Given the description of an element on the screen output the (x, y) to click on. 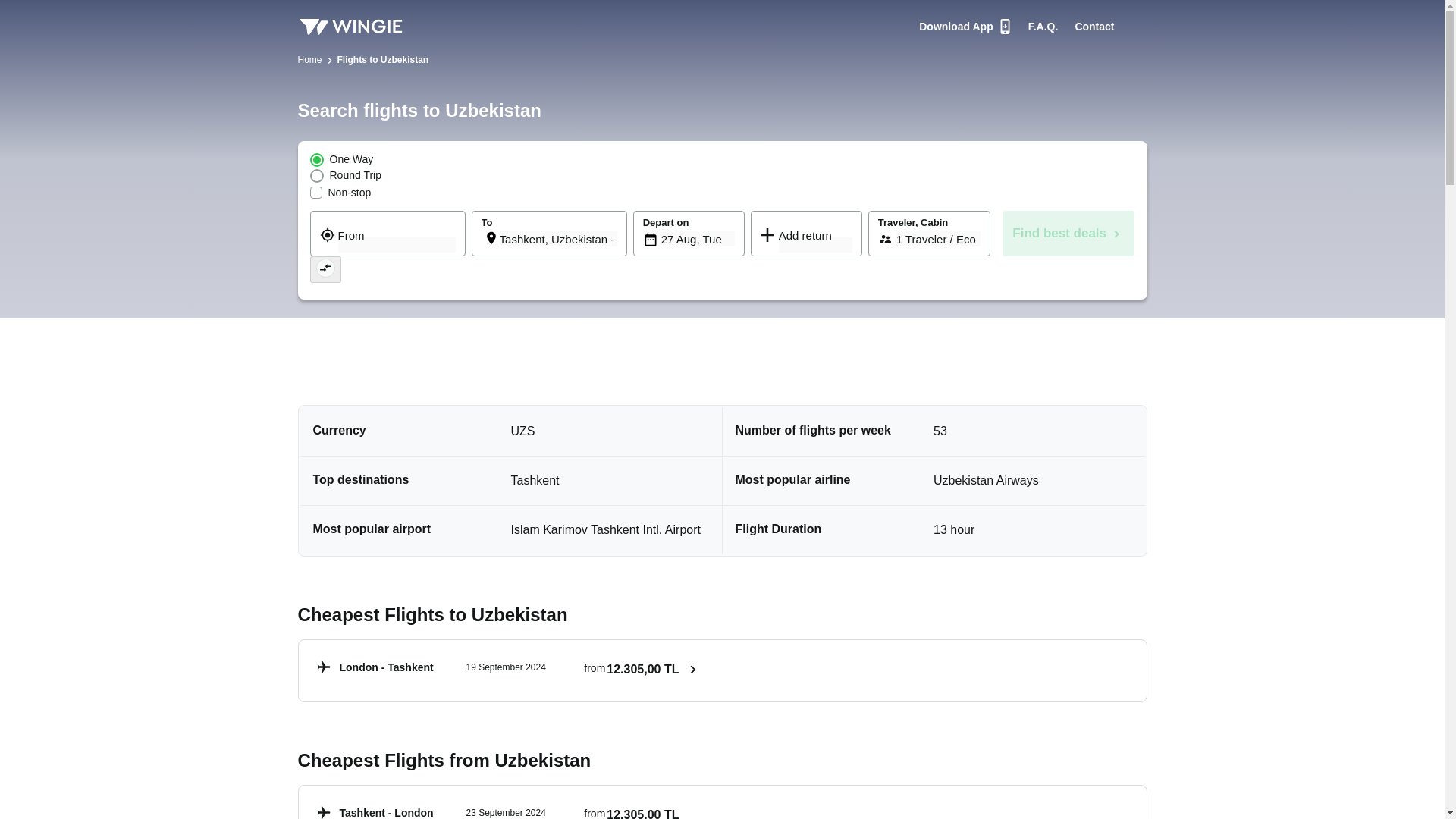
Tashkent to London flights (507, 808)
Origin Destination Switch (507, 808)
Tashkent, Uzbekistan - Islam Karimov Tashkent Intl. Airport (324, 269)
London to Tashkent flights (558, 238)
Home (507, 670)
27 Aug, Tue (309, 60)
Download App (698, 238)
F.A.Q. (965, 25)
Contact (1043, 25)
